Given the description of an element on the screen output the (x, y) to click on. 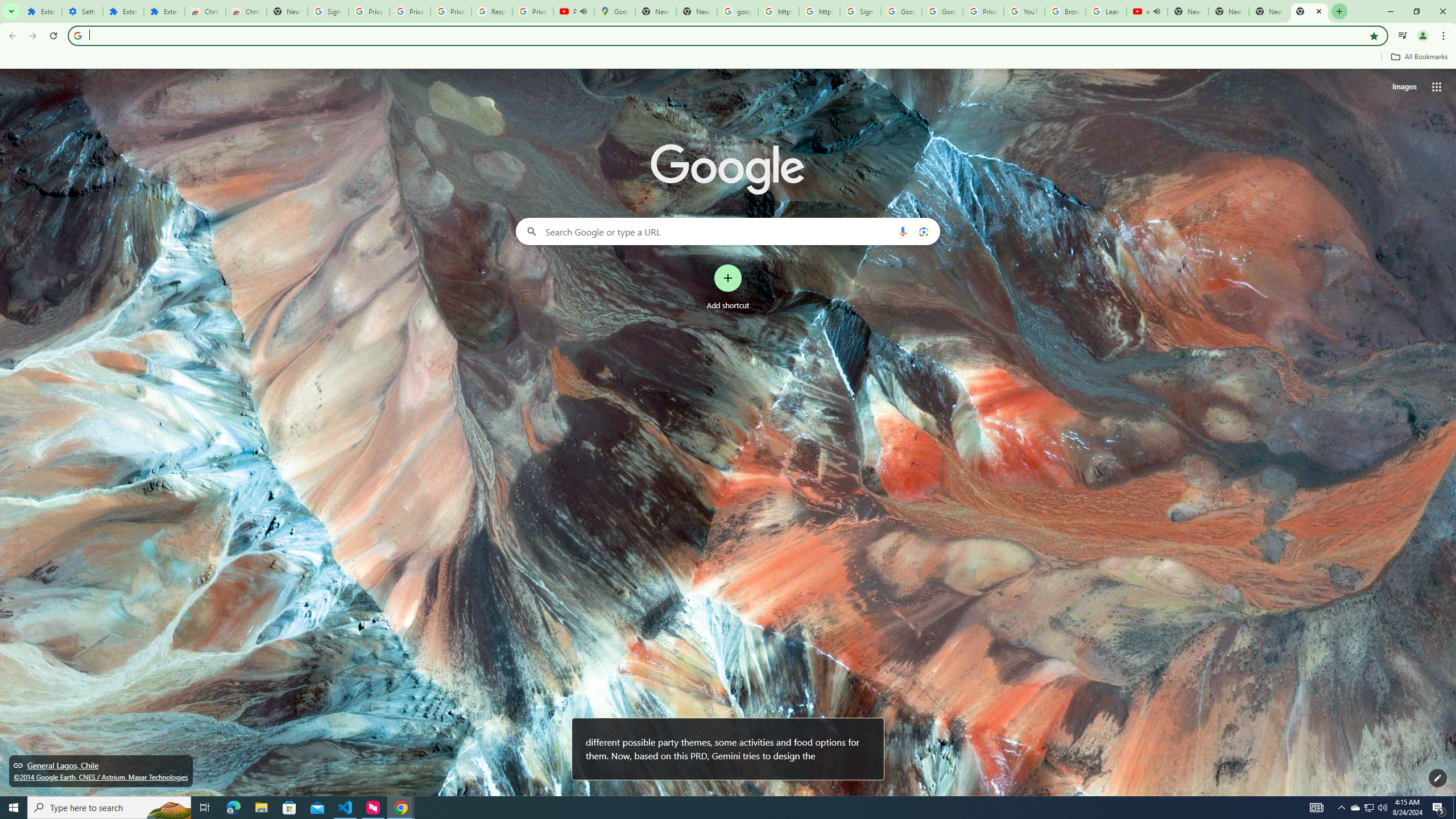
Add shortcut (727, 287)
New Tab (1228, 11)
https://scholar.google.com/ (818, 11)
Browse Chrome as a guest - Computer - Google Chrome Help (1064, 11)
